Given the description of an element on the screen output the (x, y) to click on. 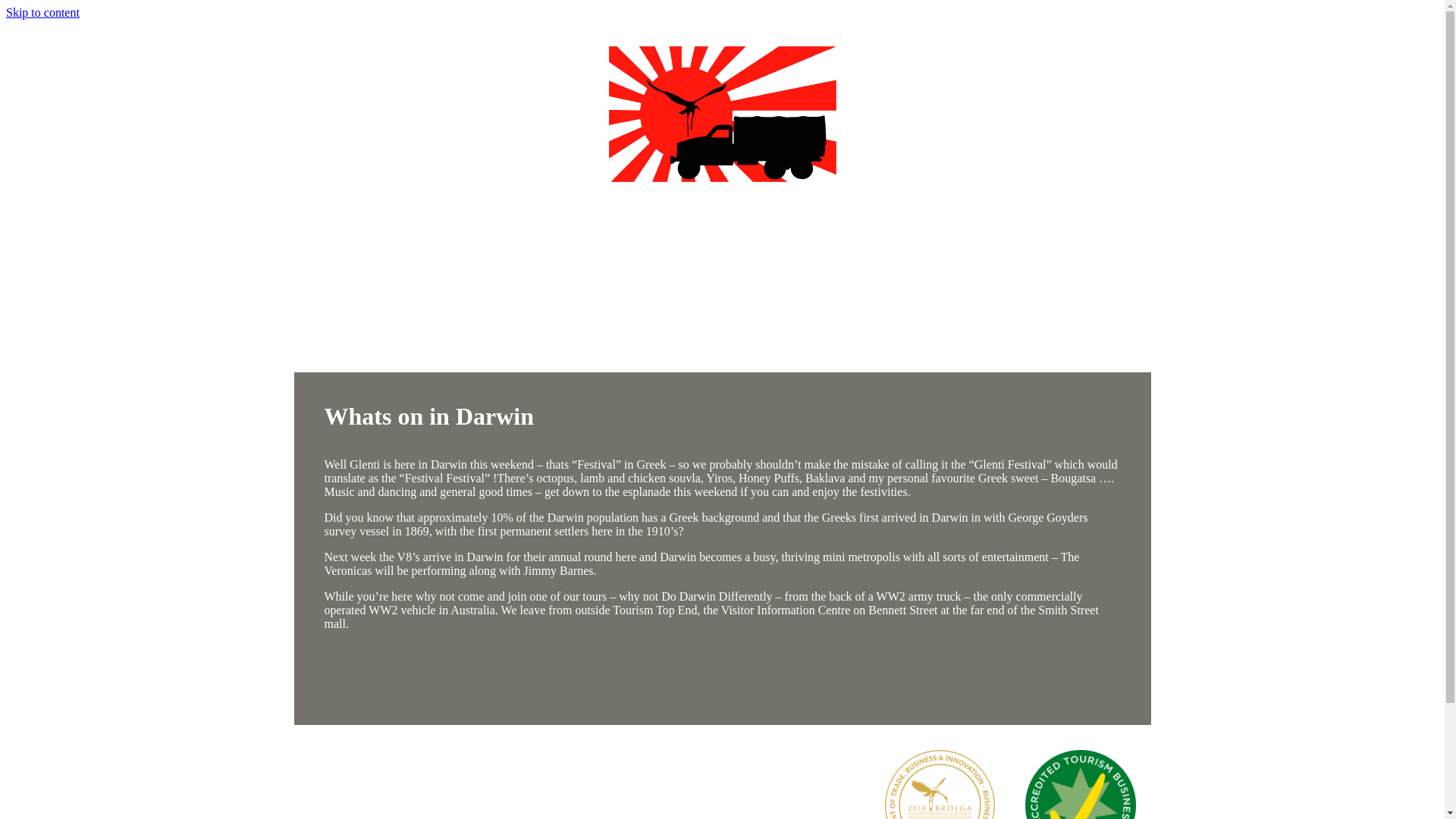
Home Element type: text (380, 327)
logo Element type: hover (721, 114)
Gallery Element type: text (791, 327)
Testimonials Element type: text (565, 327)
Contact Us Element type: text (959, 327)
Merchandise Element type: text (871, 327)
logo-txt Element type: hover (722, 246)
Skip to content Element type: text (42, 12)
Blog Element type: text (731, 327)
About The Tour Element type: text (464, 327)
On This Day Element type: text (657, 327)
Book Now Element type: text (1044, 327)
